Given the description of an element on the screen output the (x, y) to click on. 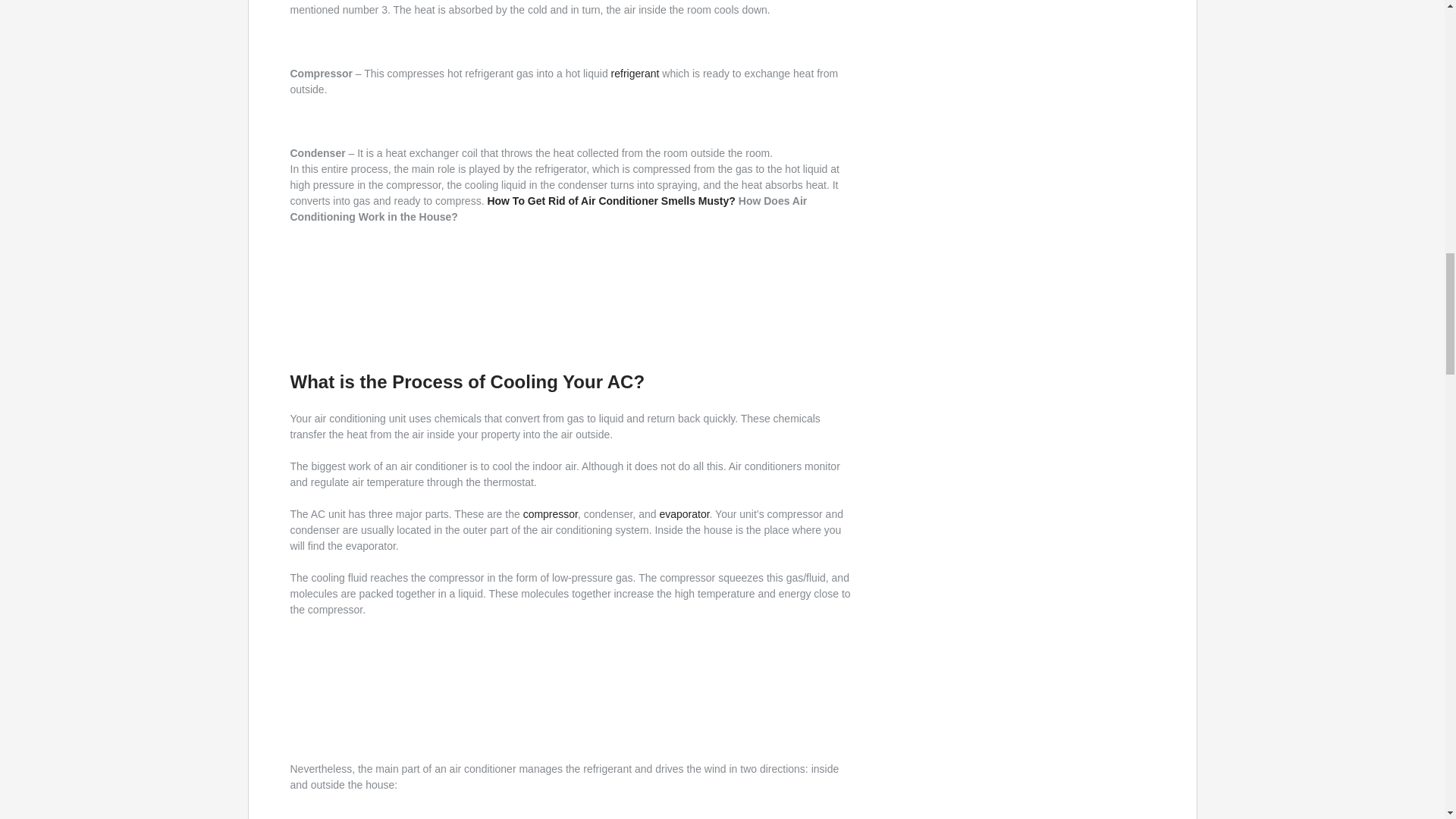
refrigerant (635, 73)
evaporator (684, 513)
How To Get Rid of Air Conditioner Smells Musty? (610, 200)
compressor (550, 513)
